Given the description of an element on the screen output the (x, y) to click on. 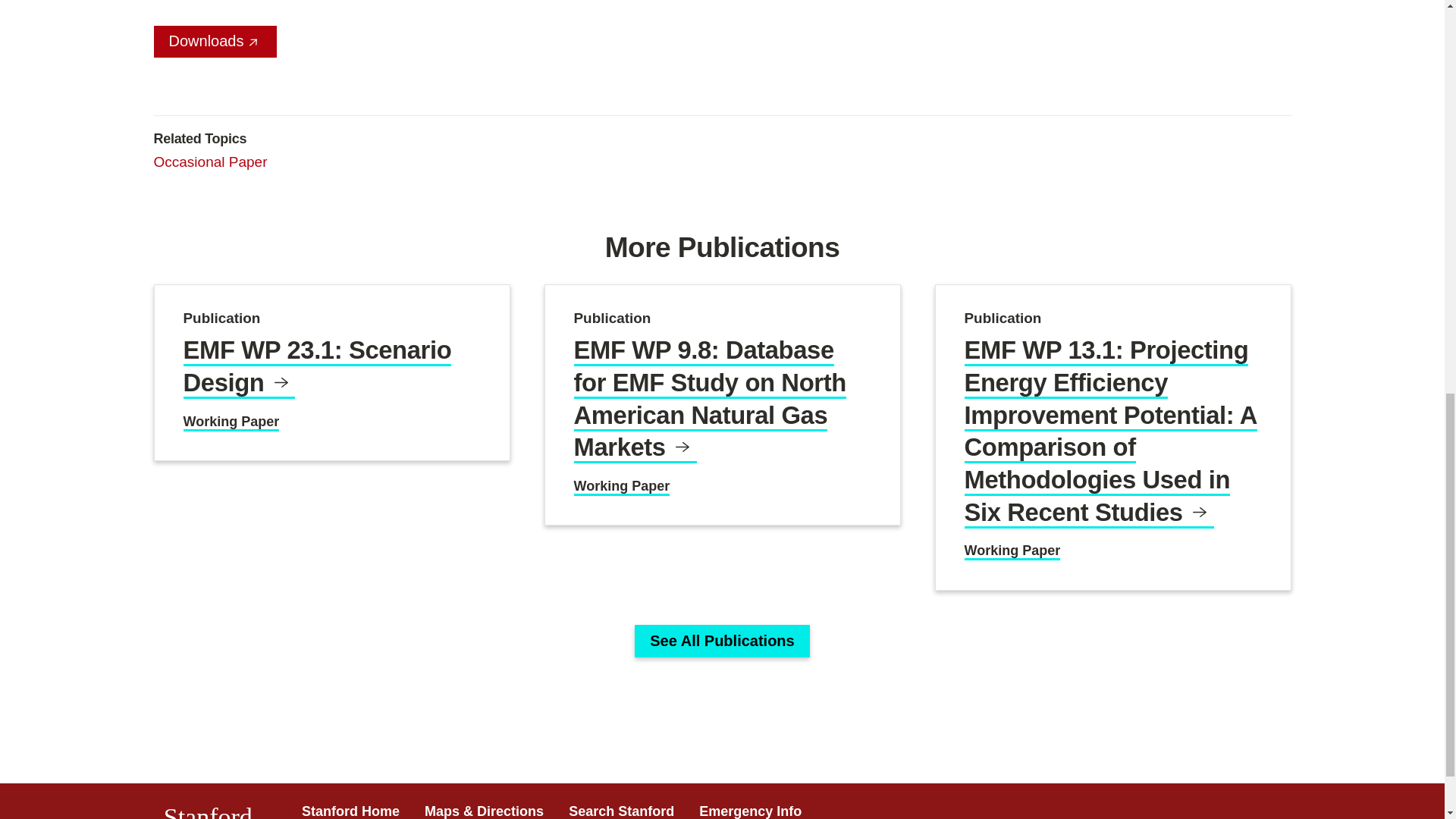
Working Paper (621, 487)
Working Paper (231, 422)
Working Paper (1012, 551)
EMF WP 23.1: Scenario Design (317, 366)
See All Publications (721, 641)
Downloads (214, 41)
Occasional Paper (209, 161)
